Given the description of an element on the screen output the (x, y) to click on. 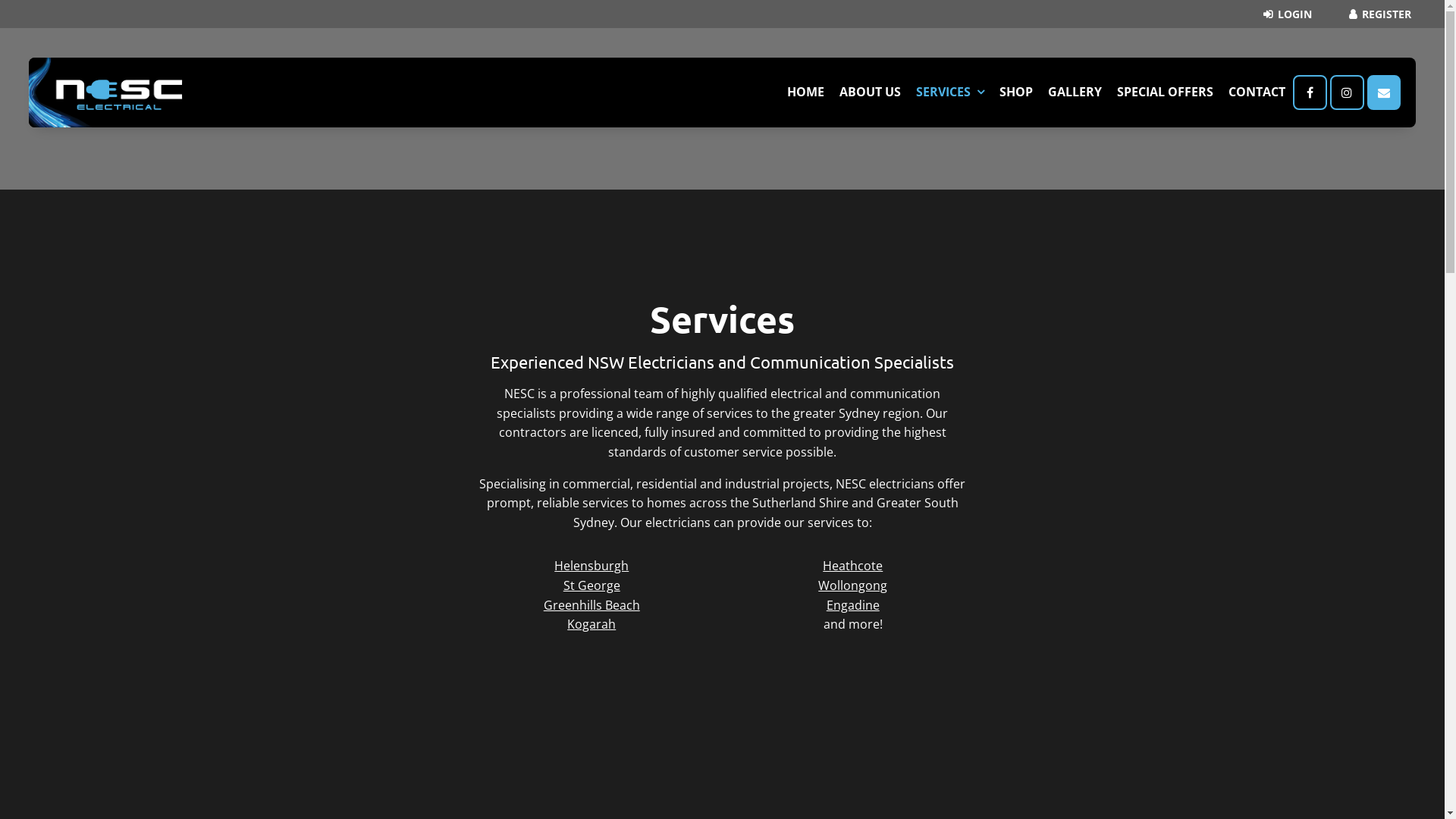
ABOUT US Element type: text (869, 92)
Engadine Element type: text (852, 604)
Kogarah Element type: text (591, 623)
Wollongong Element type: text (852, 585)
HOME Element type: text (805, 92)
SHOP Element type: text (1015, 92)
SERVICES Element type: text (949, 92)
GALLERY Element type: text (1074, 92)
CONTACT Element type: text (1256, 92)
Helensburgh Element type: text (591, 565)
St George Element type: text (591, 585)
Greenhills Beach Element type: text (591, 604)
SPECIAL OFFERS Element type: text (1164, 92)
Heathcote Element type: text (852, 565)
